Given the description of an element on the screen output the (x, y) to click on. 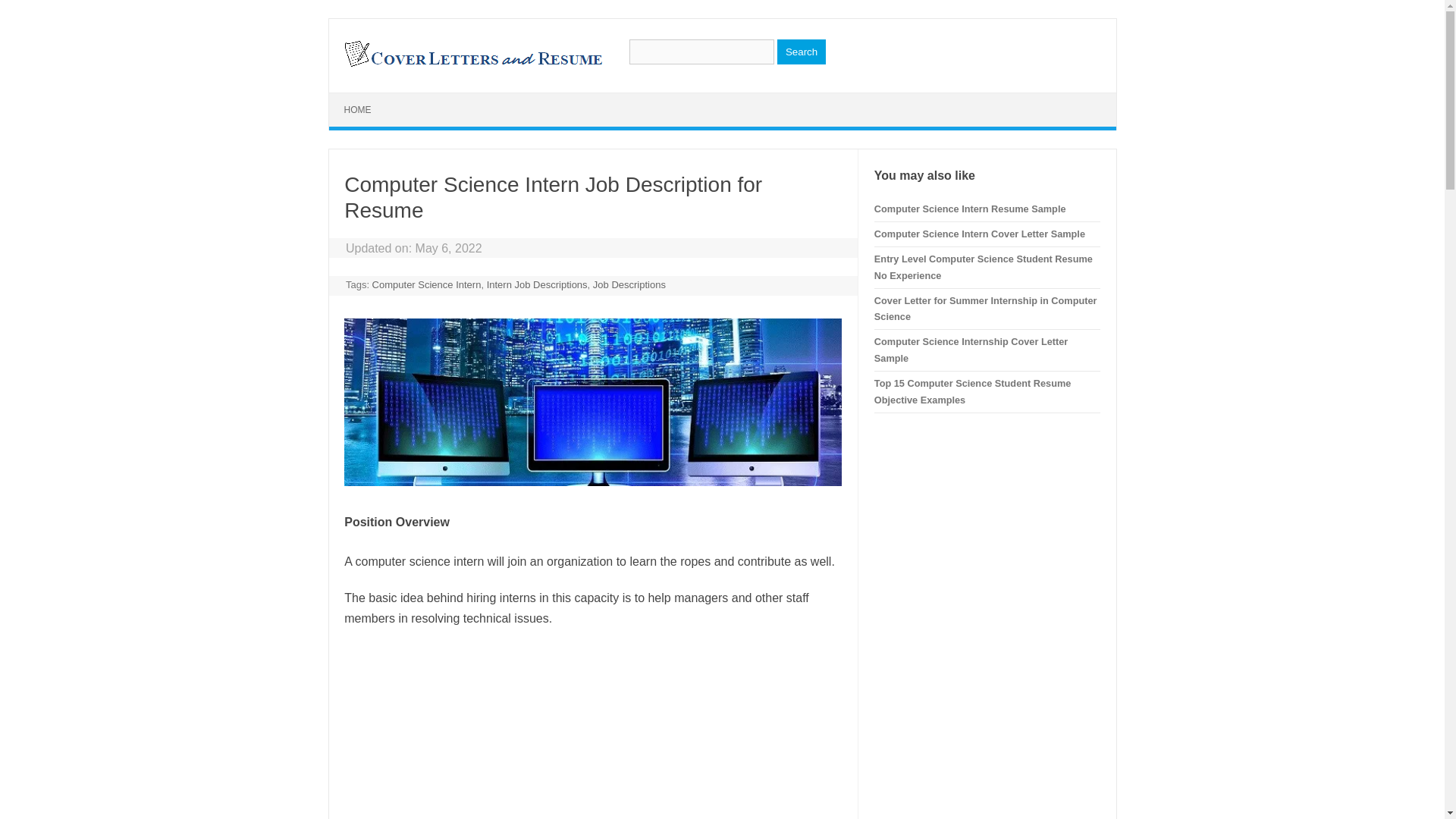
Computer Science Internship Cover Letter Sample (971, 349)
Entry Level Computer Science Student Resume No Experience (984, 267)
Computer Science Intern Resume Sample (970, 208)
Search (801, 51)
Intern Job Descriptions (537, 284)
Computer Science Intern (426, 284)
Cover Letter for Summer Internship in Computer Science (986, 308)
Advertisement (592, 731)
HOME (358, 109)
Cover Letters and Resume Samples (471, 65)
